Given the description of an element on the screen output the (x, y) to click on. 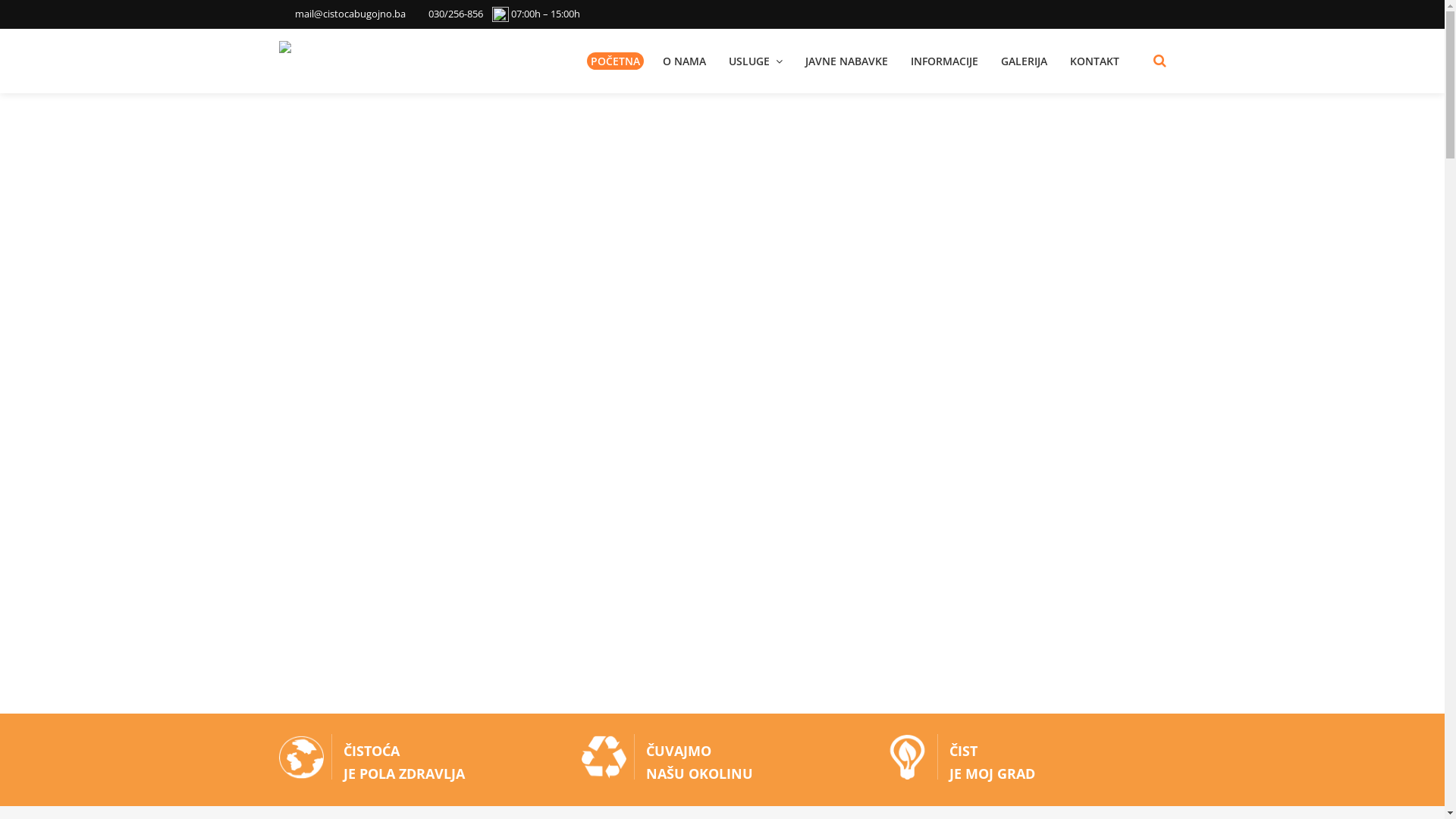
JAVNE NABAVKE Element type: text (845, 60)
INFORMACIJE Element type: text (944, 60)
USLUGE Element type: text (755, 60)
GALERIJA Element type: text (1023, 60)
KONTAKT Element type: text (1094, 60)
O NAMA Element type: text (683, 60)
